Given the description of an element on the screen output the (x, y) to click on. 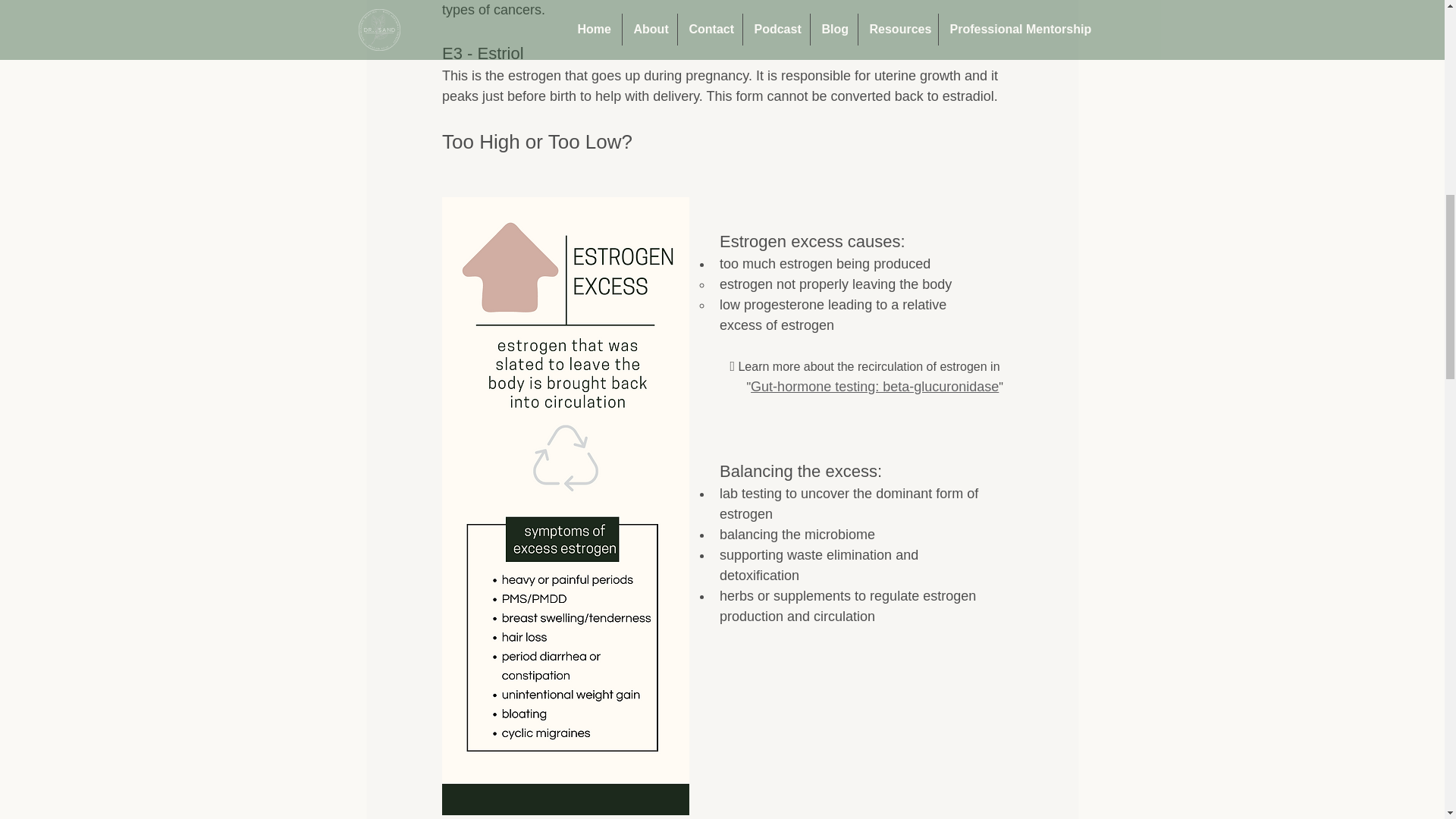
Gut-hormone testing: beta-glucuronidase (874, 386)
